Given the description of an element on the screen output the (x, y) to click on. 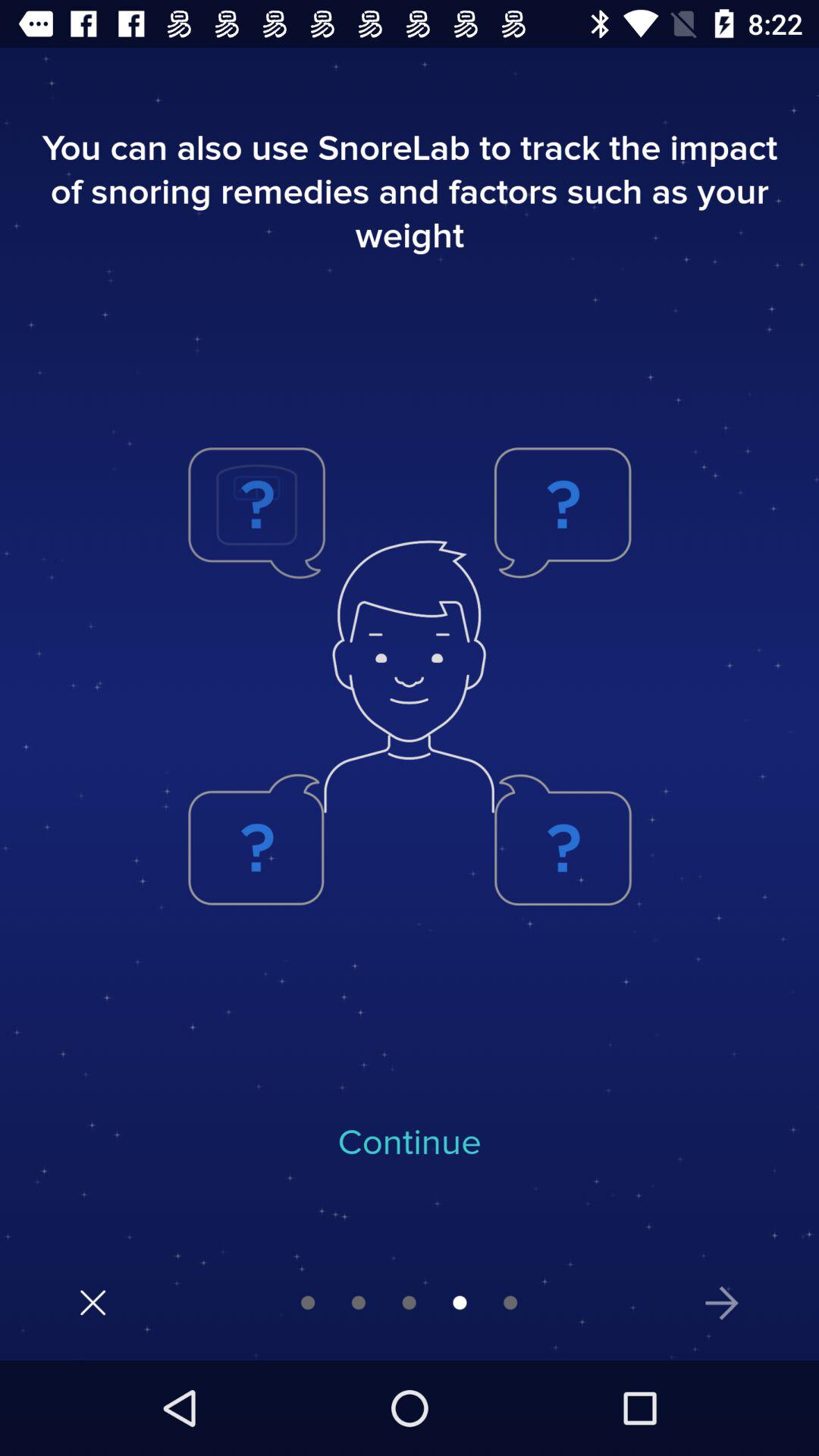
continue forward (721, 1302)
